Given the description of an element on the screen output the (x, y) to click on. 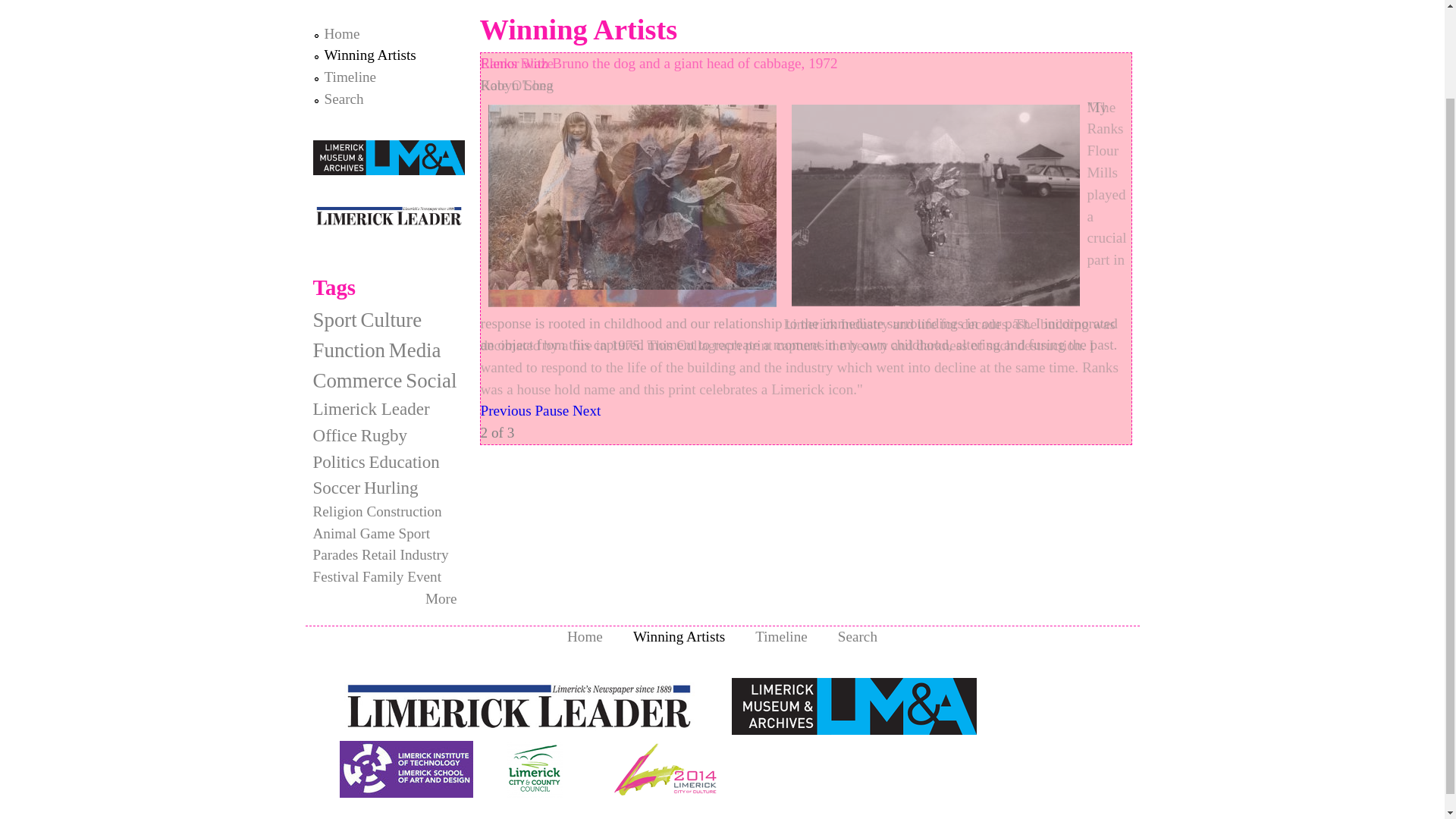
Elenor with Bruno the dog and a giant head of cabbage, 1972 (659, 63)
Construction (403, 511)
Animal (334, 532)
Education (403, 461)
Politics (339, 461)
Winning Artists (370, 54)
Search (344, 98)
Media (414, 350)
Commerce (357, 380)
Religion (337, 511)
